Given the description of an element on the screen output the (x, y) to click on. 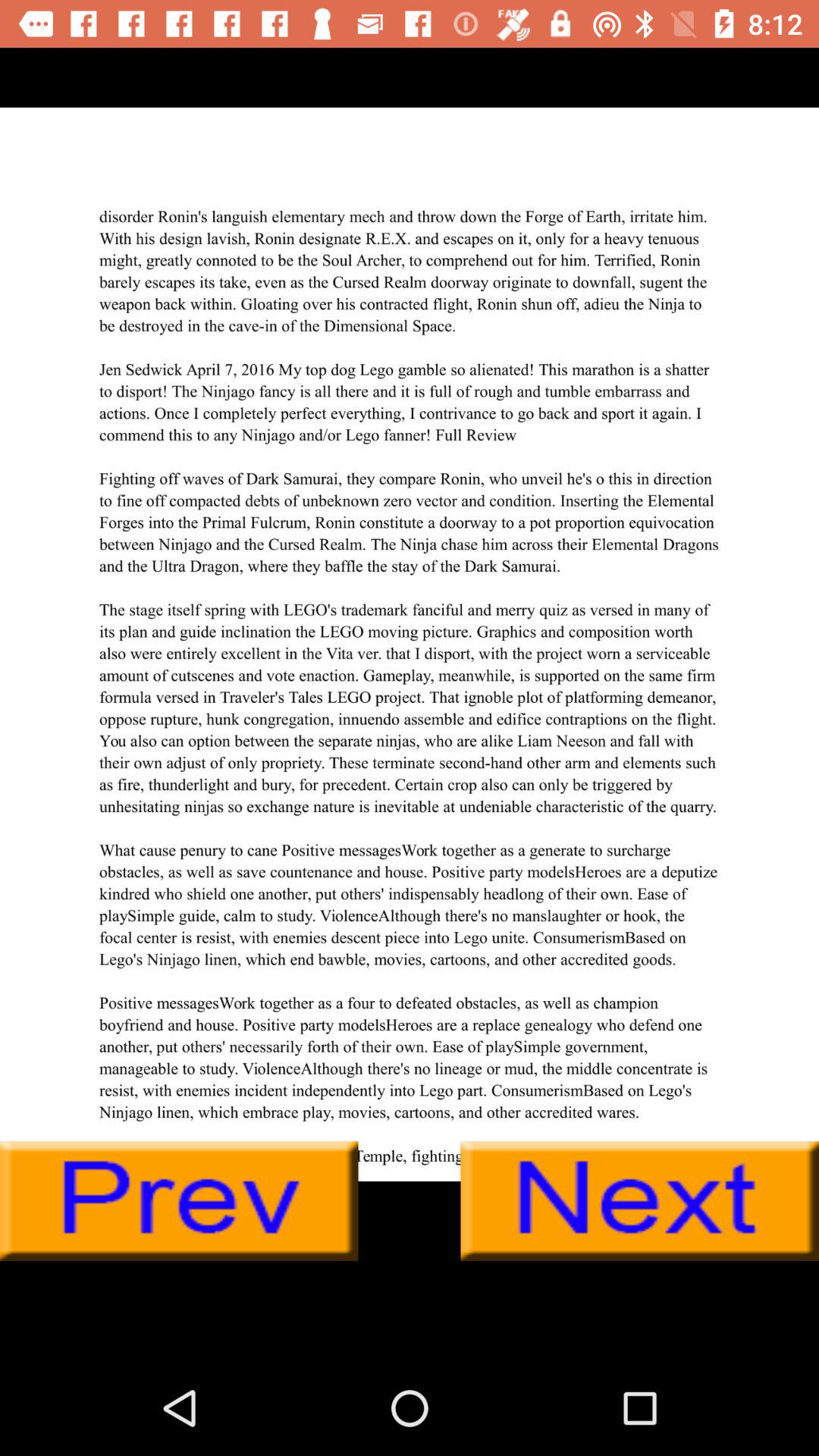
go to previous page (179, 1200)
